Given the description of an element on the screen output the (x, y) to click on. 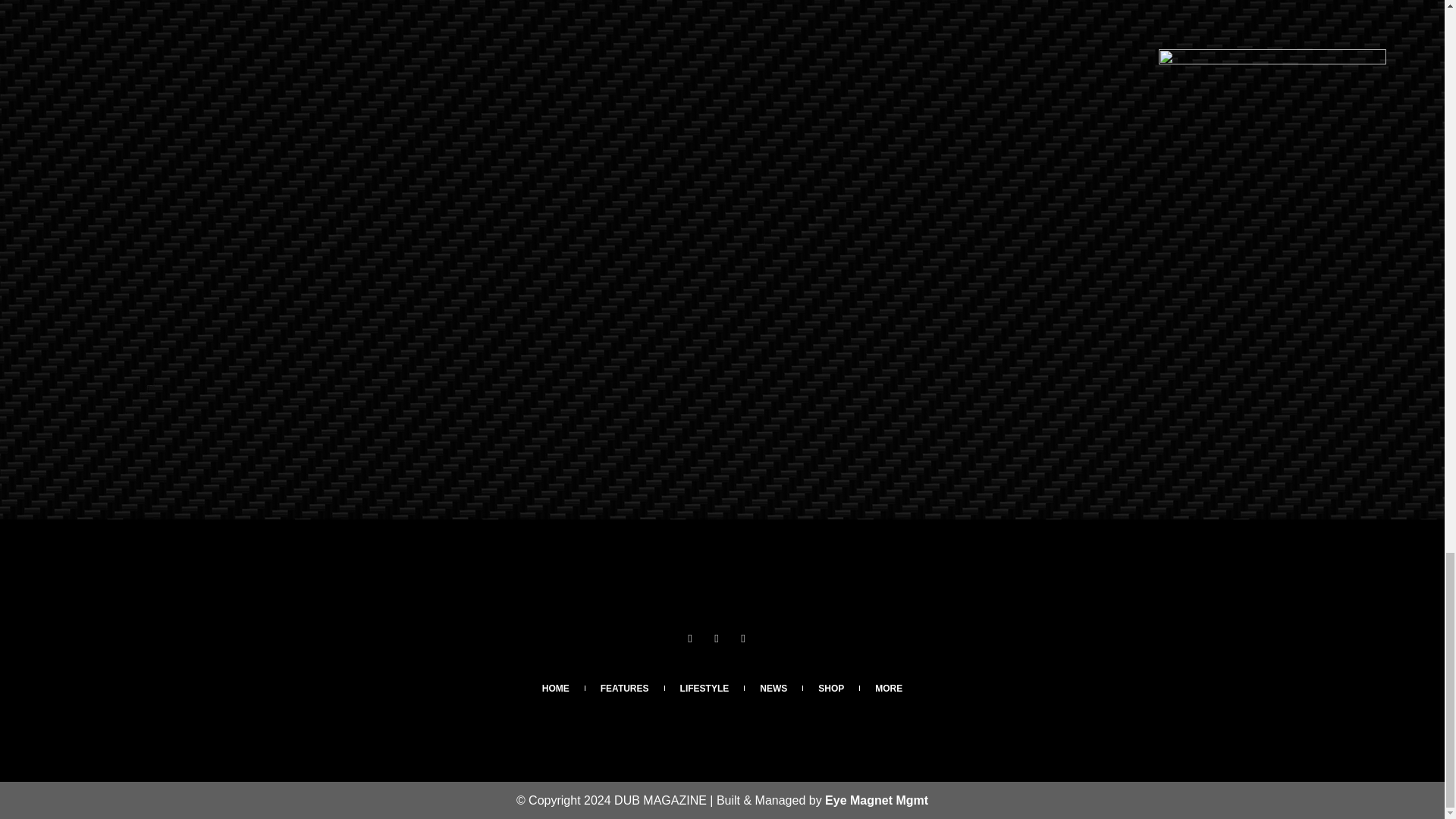
SHOP (831, 687)
NEWS (773, 687)
Instagram (722, 644)
FEATURES (624, 687)
Youtube (748, 644)
Facebook (695, 644)
HOME (556, 687)
LIFESTYLE (704, 687)
MORE (888, 687)
